Given the description of an element on the screen output the (x, y) to click on. 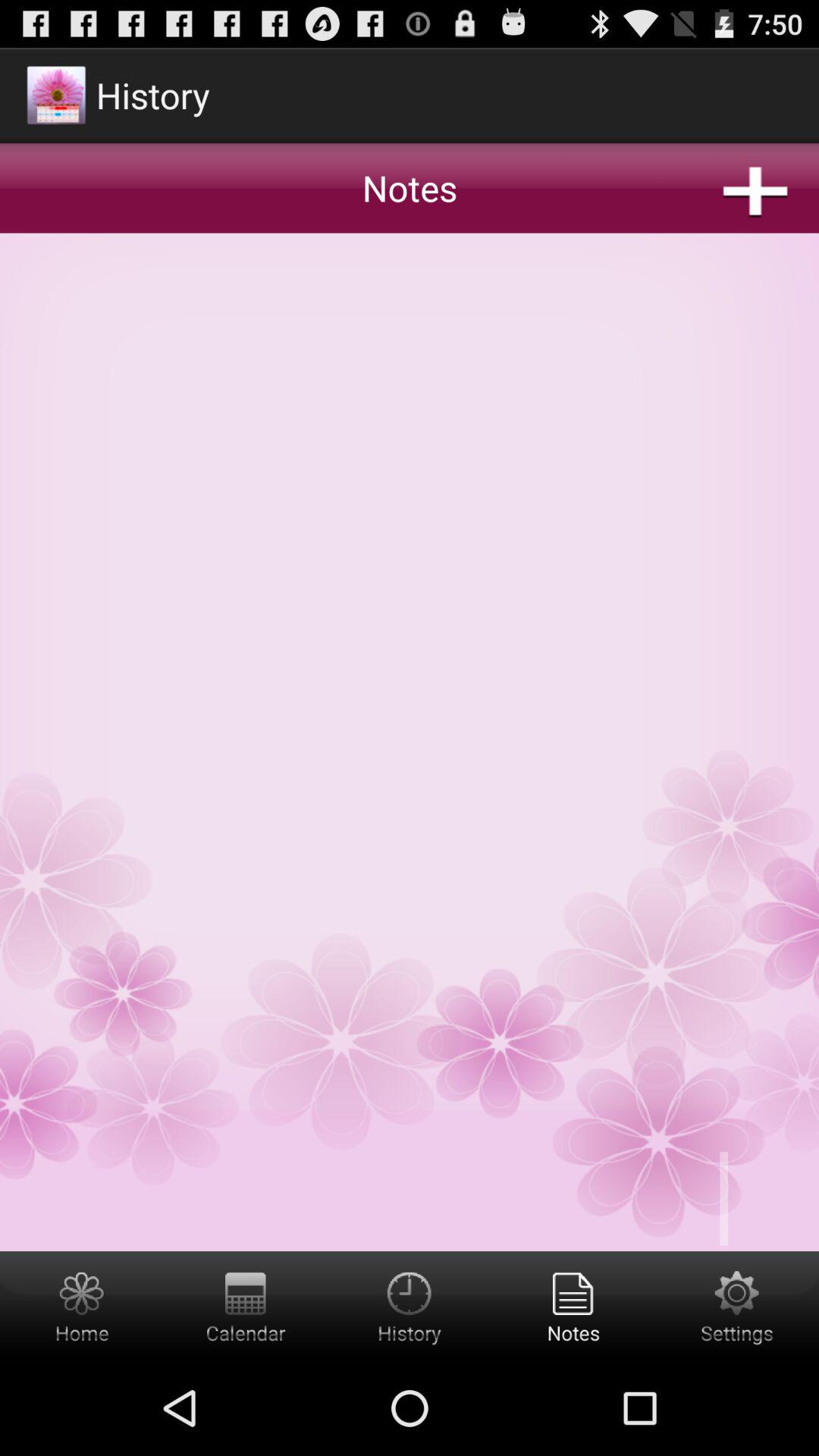
go home (81, 1305)
